Given the description of an element on the screen output the (x, y) to click on. 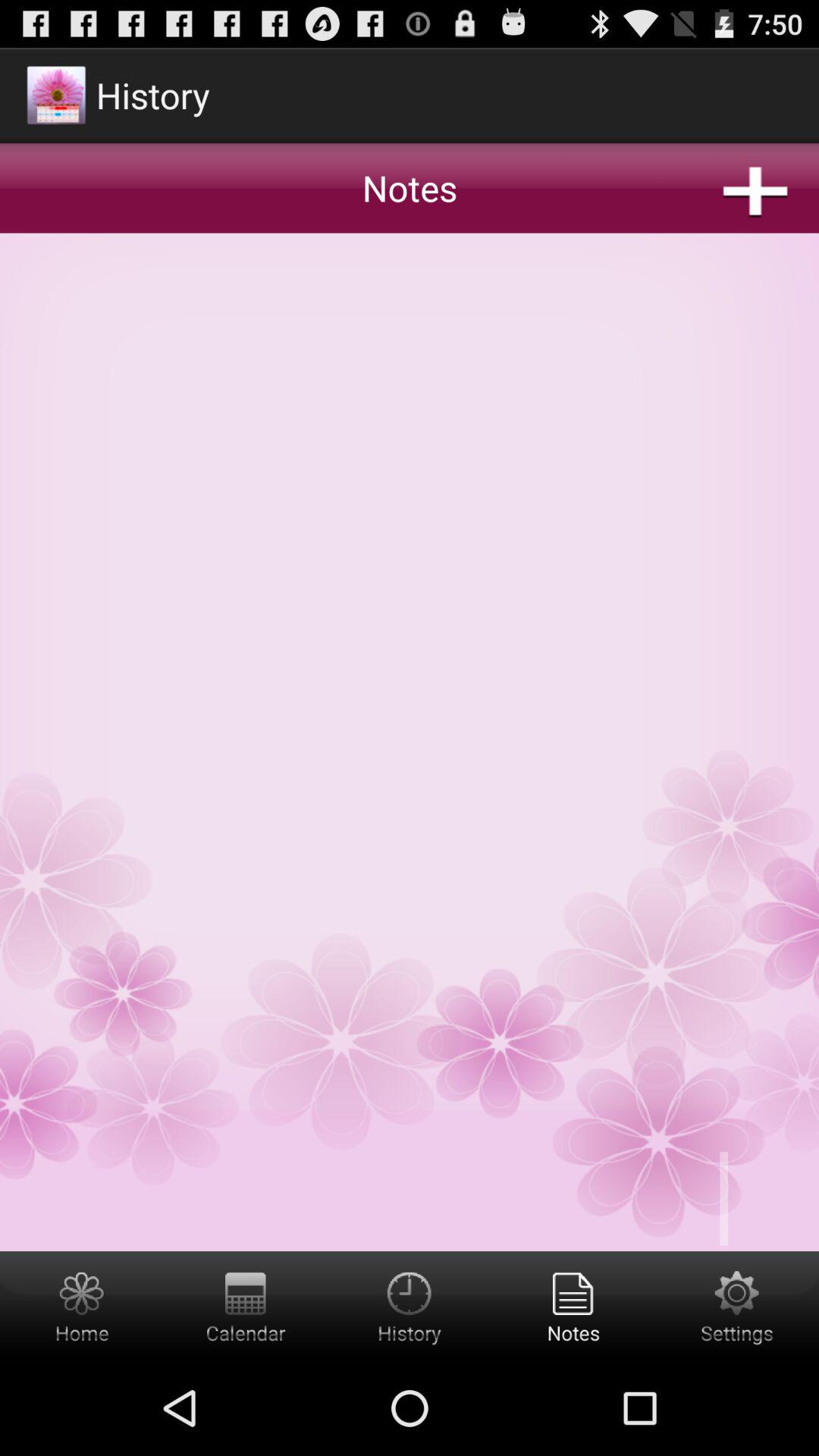
go home (81, 1305)
